Given the description of an element on the screen output the (x, y) to click on. 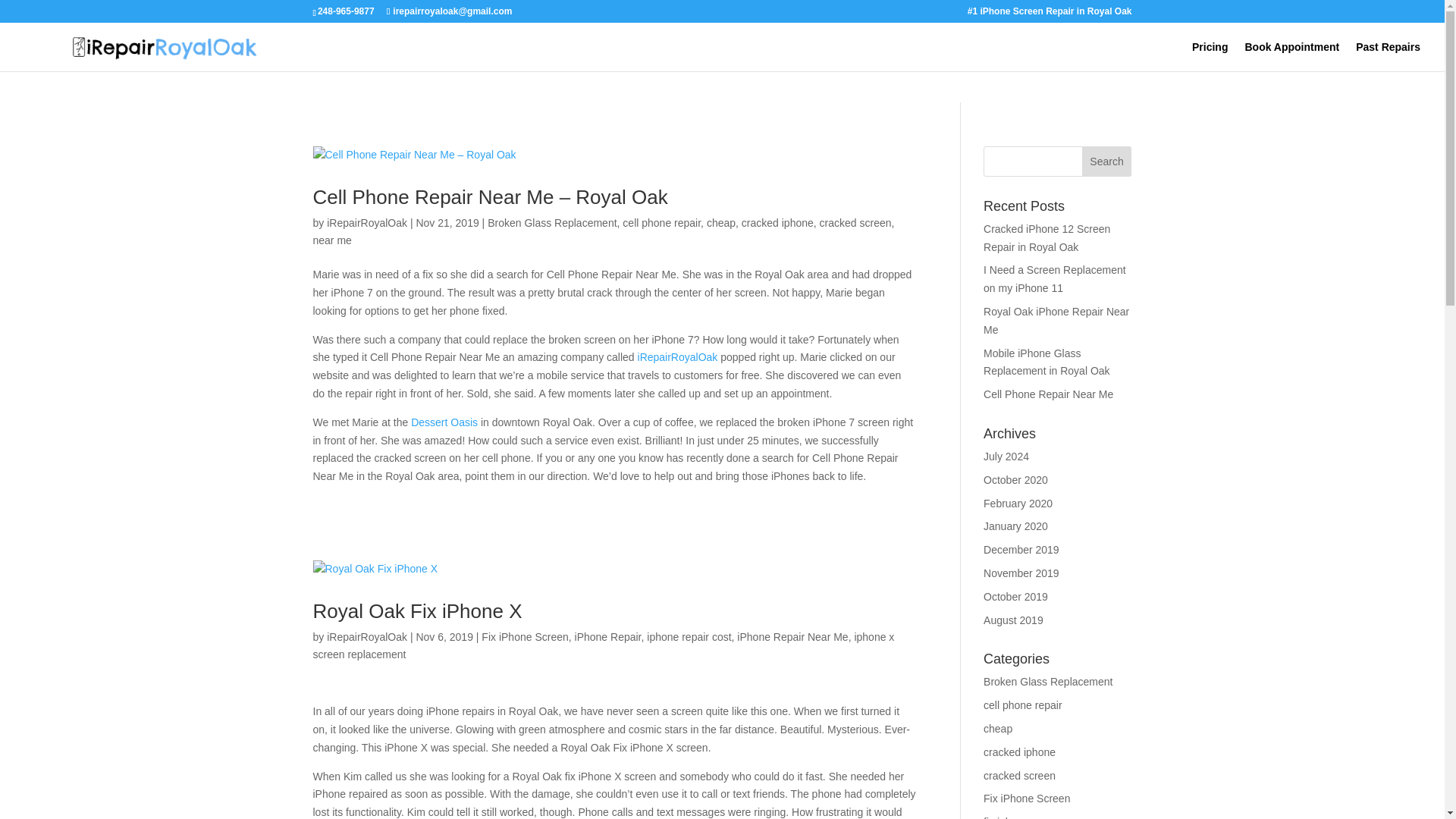
cell phone repair (661, 223)
Posts by iRepairRoyalOak (366, 636)
iPhone Repair Near Me (791, 636)
Past Repairs (1388, 56)
cracked screen (855, 223)
Posts by iRepairRoyalOak (366, 223)
near me (331, 240)
iPhone Repair (608, 636)
iphone x screen replacement (603, 645)
cracked iphone (777, 223)
Fix iPhone Screen (524, 636)
Book Appointment (1291, 56)
Broken Glass Replacement (551, 223)
iphone repair cost (688, 636)
Royal Oak Fix iPhone X (417, 610)
